Given the description of an element on the screen output the (x, y) to click on. 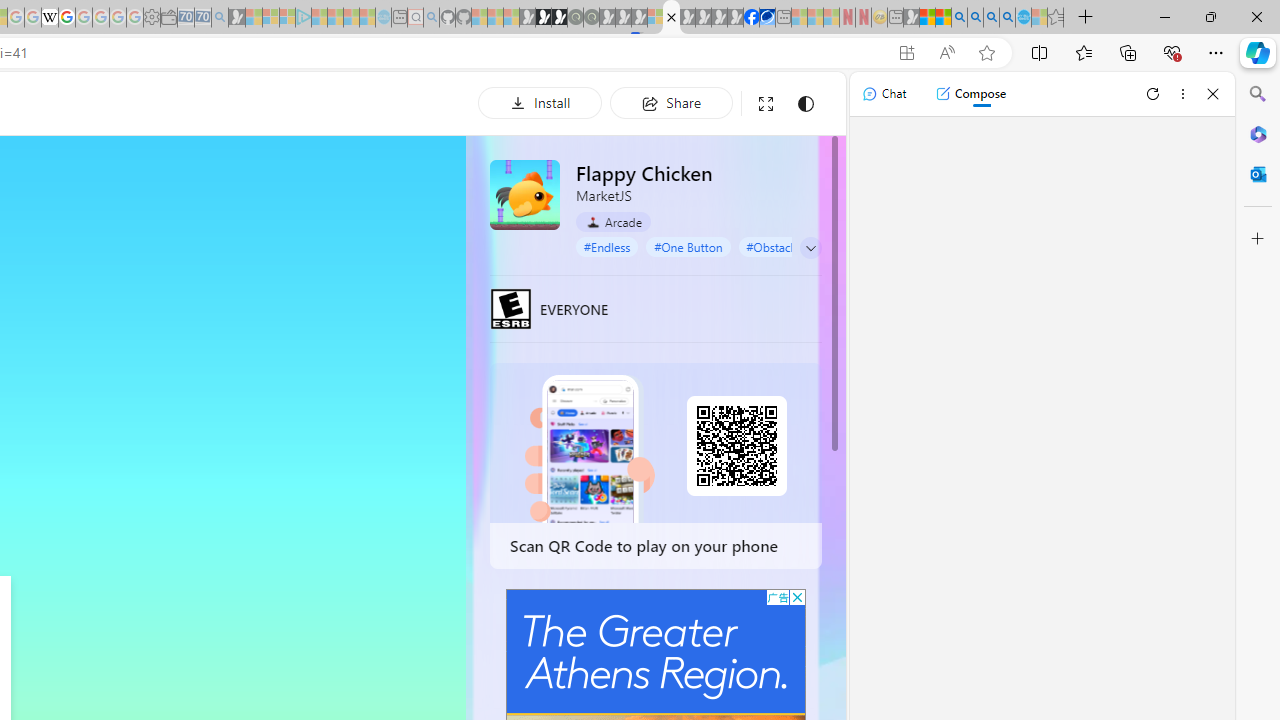
Future Focus Report 2024 - Sleeping (591, 17)
Install (540, 102)
Full screen (765, 103)
#Obstacle Course (792, 246)
#Endless (607, 246)
